Given the description of an element on the screen output the (x, y) to click on. 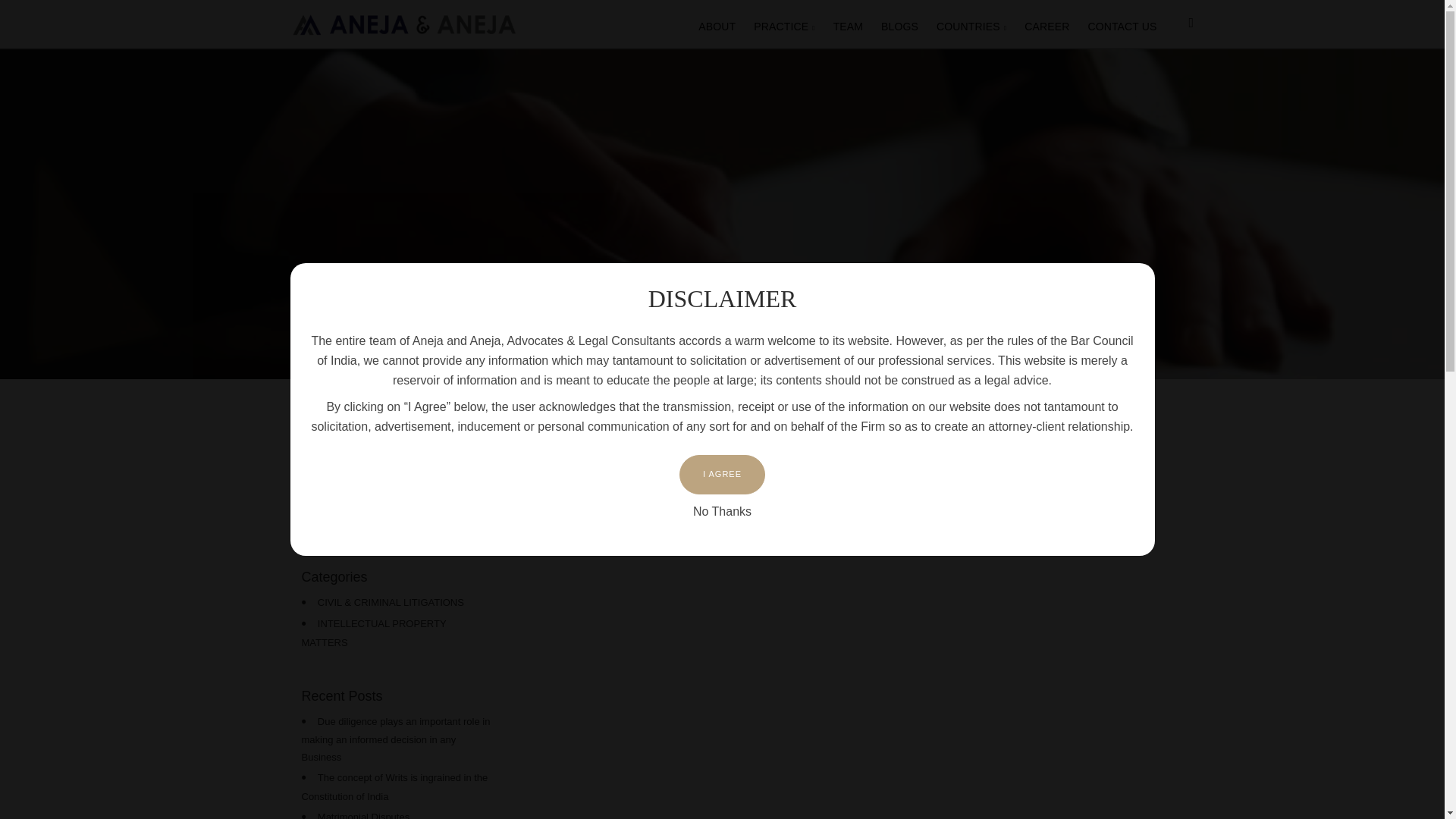
CAREER (1046, 24)
patents (398, 519)
ABOUT (716, 24)
COUNTRIES (970, 25)
patents (398, 519)
INTELLECTUAL PROPERTY MATTERS (373, 633)
Matrimonial Disputes (363, 815)
CONTACT US (1122, 24)
BLOGS (899, 24)
TEAM (848, 24)
PRACTICE (784, 25)
